Given the description of an element on the screen output the (x, y) to click on. 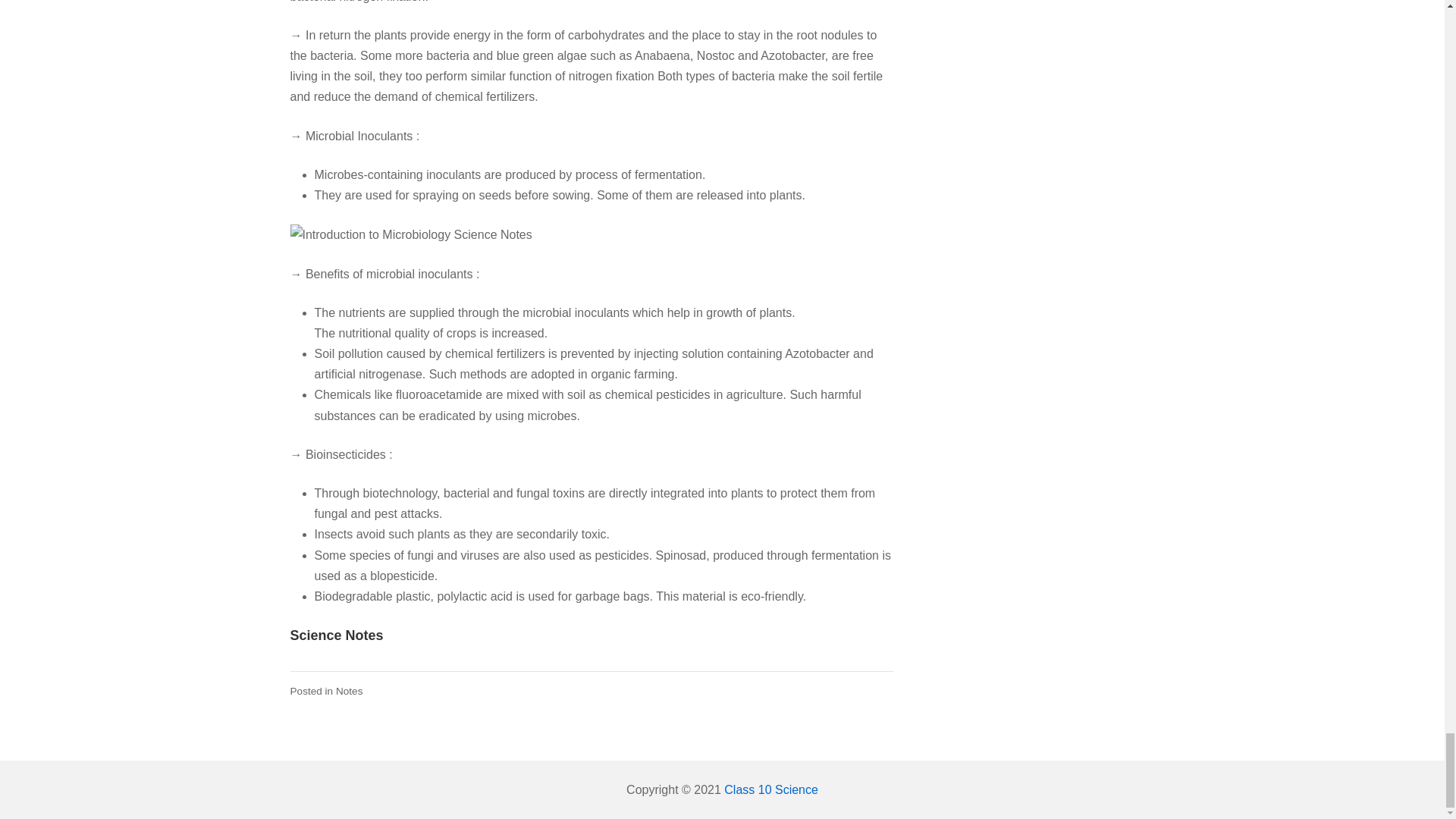
Class 10 Science (770, 789)
Science Notes (335, 635)
Notes (349, 690)
